Given the description of an element on the screen output the (x, y) to click on. 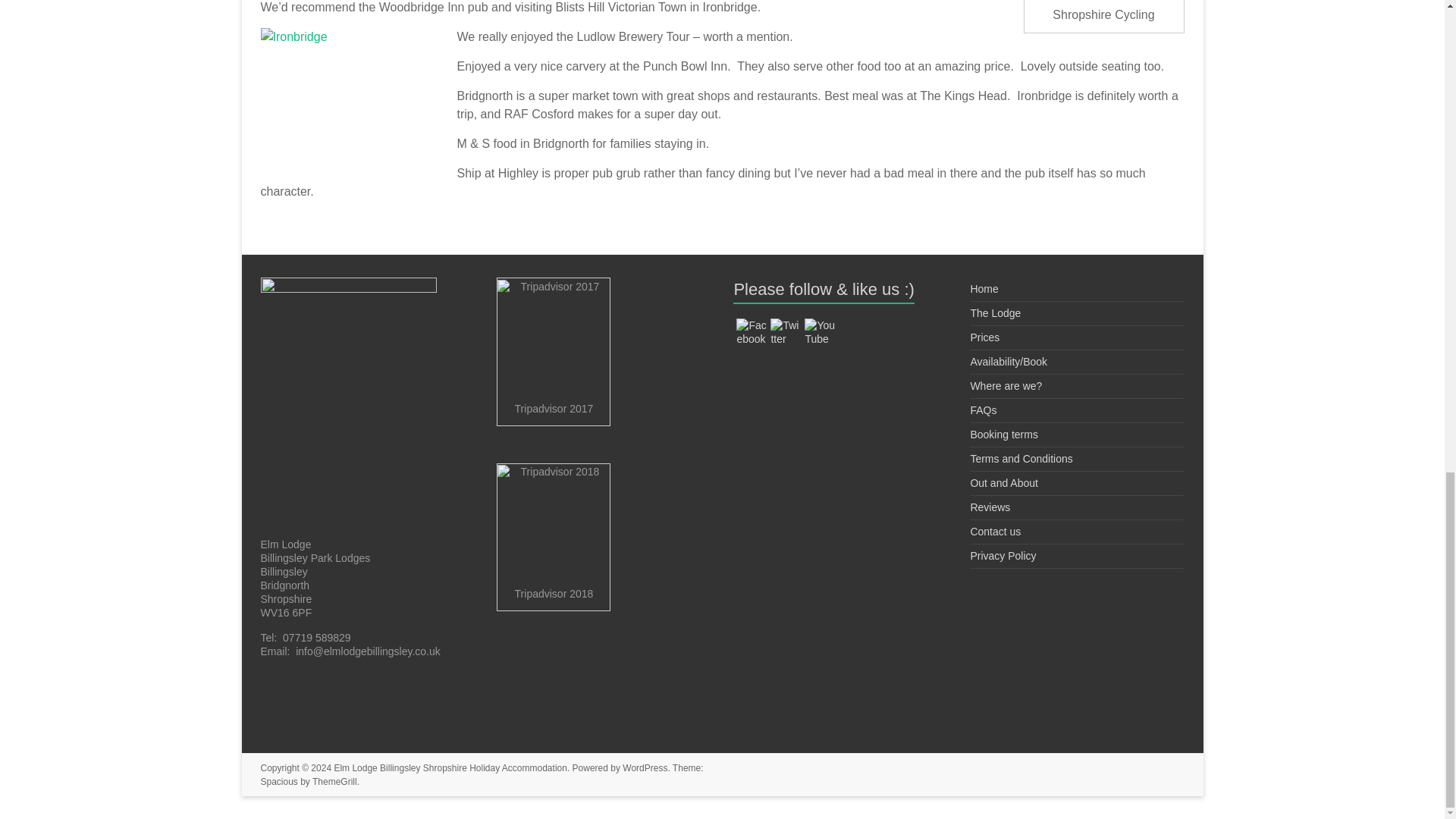
Reviews (989, 507)
Booking terms (1002, 434)
WordPress (644, 767)
The Lodge (994, 313)
FAQs (982, 410)
ThemeGrill (334, 781)
YouTube (819, 331)
Home (983, 288)
Contact us (994, 531)
Facebook (751, 331)
Terms and Conditions (1020, 458)
Out and About (1003, 482)
Elm Lodge Billingsley Shropshire Holiday Accommodation (450, 767)
WordPress (644, 767)
Where are we? (1005, 386)
